Given the description of an element on the screen output the (x, y) to click on. 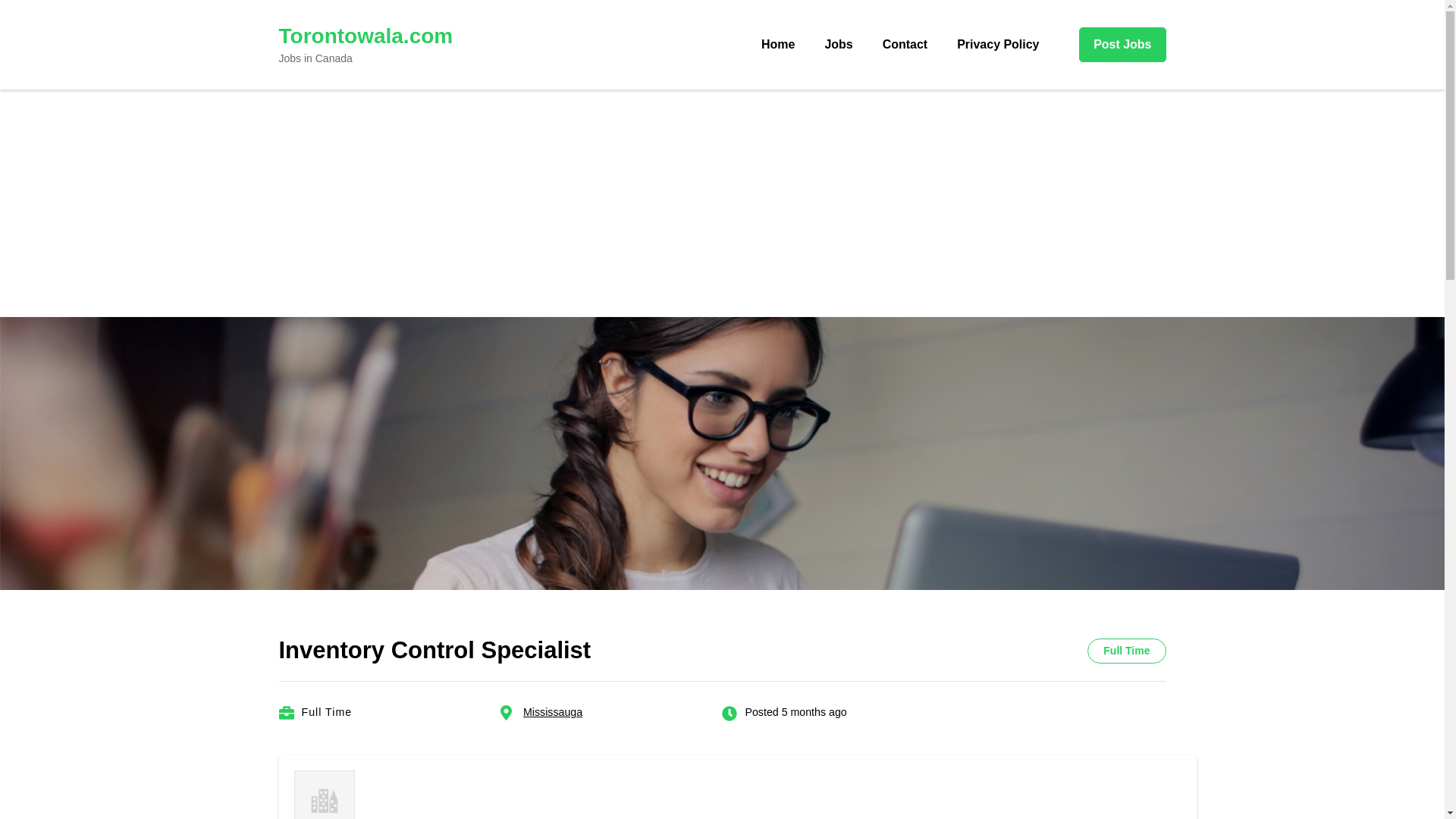
Contact (904, 44)
Privacy Policy (997, 44)
Torontowala.com (365, 35)
Post Jobs (1122, 44)
Jobs (837, 44)
Home (778, 44)
Mississauga (552, 711)
